Given the description of an element on the screen output the (x, y) to click on. 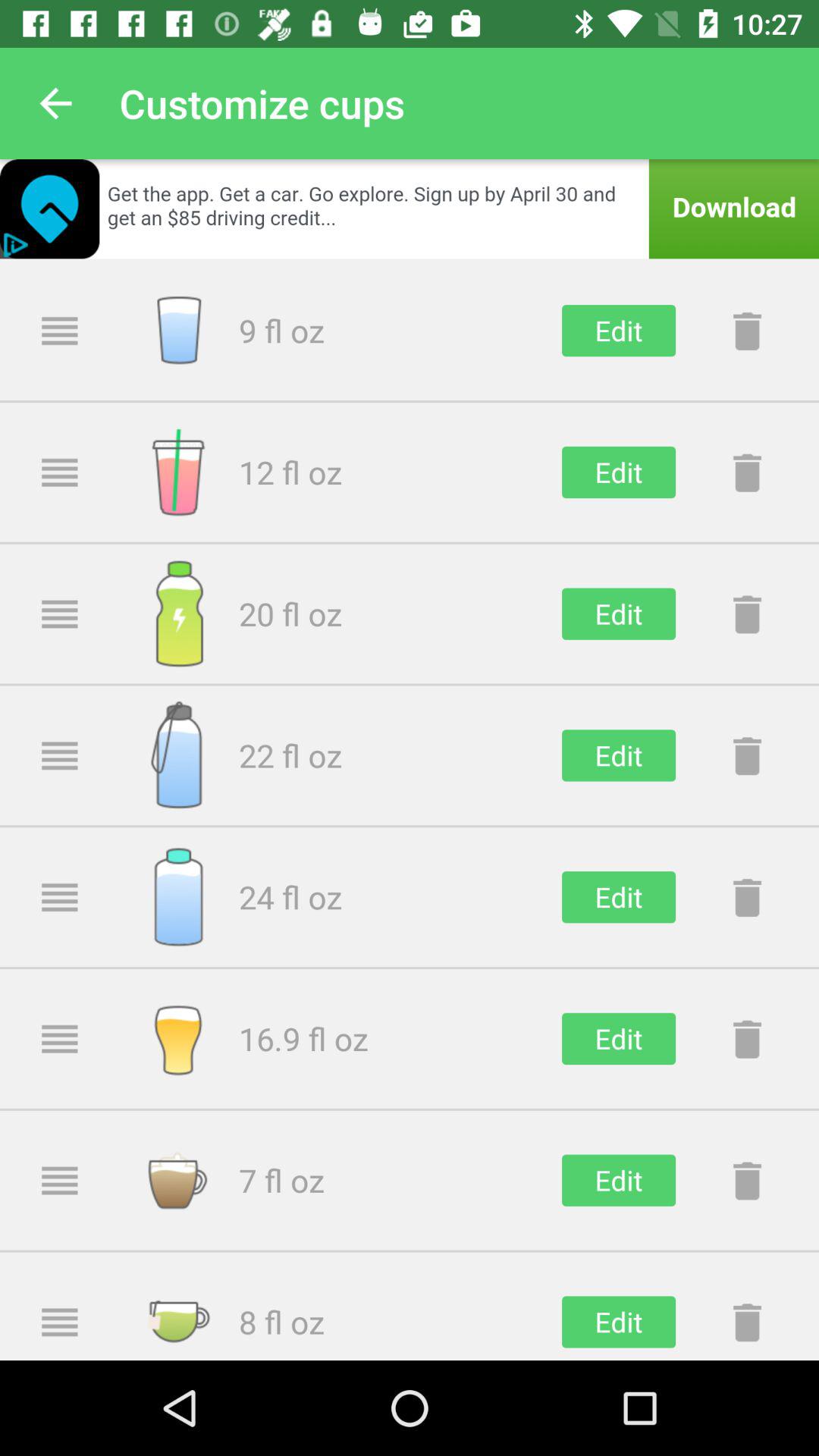
delete the option (747, 1038)
